Given the description of an element on the screen output the (x, y) to click on. 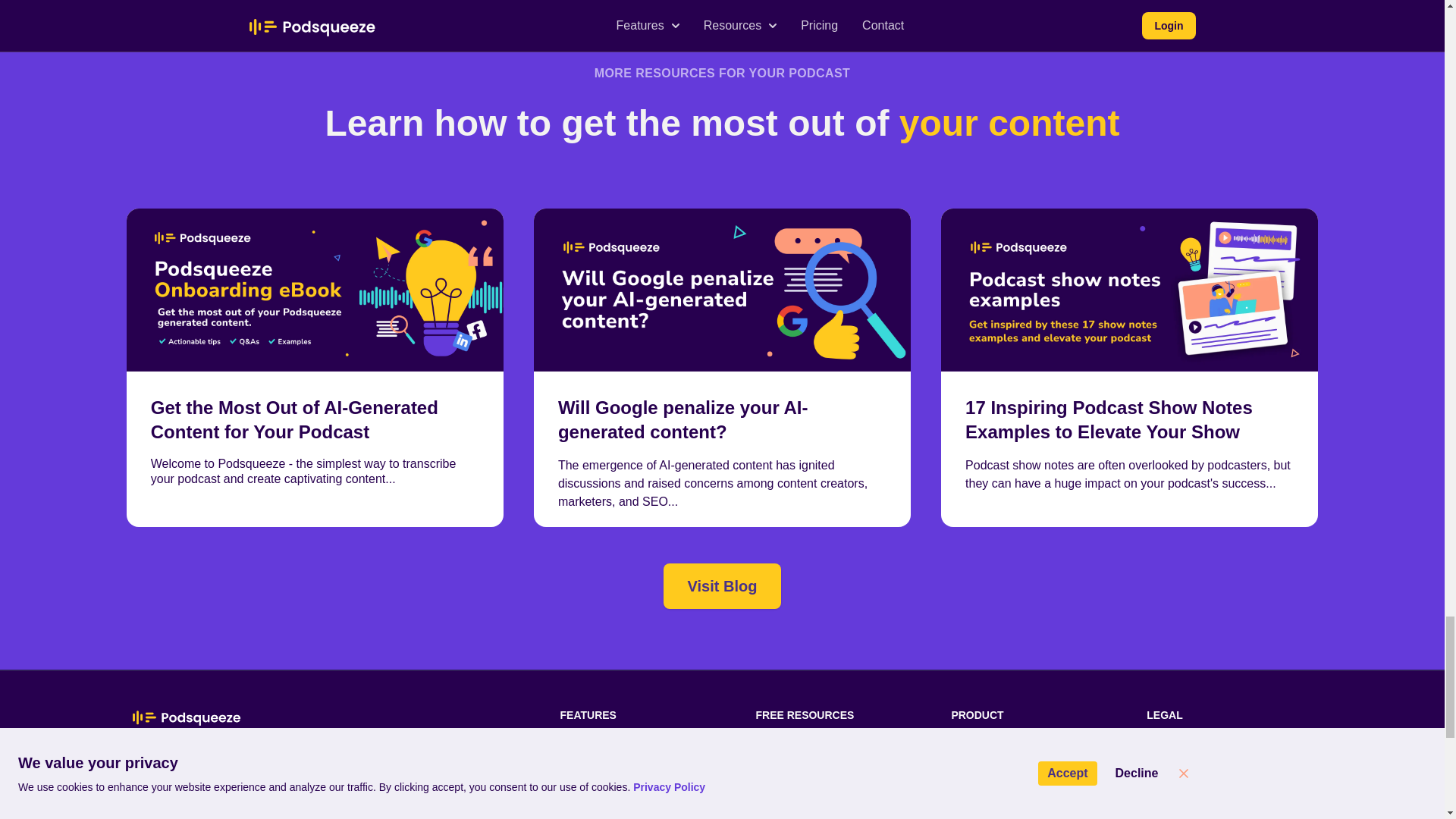
Transcript Generator (615, 748)
Subtitles Generator (612, 776)
Visit Blog (722, 586)
